Given the description of an element on the screen output the (x, y) to click on. 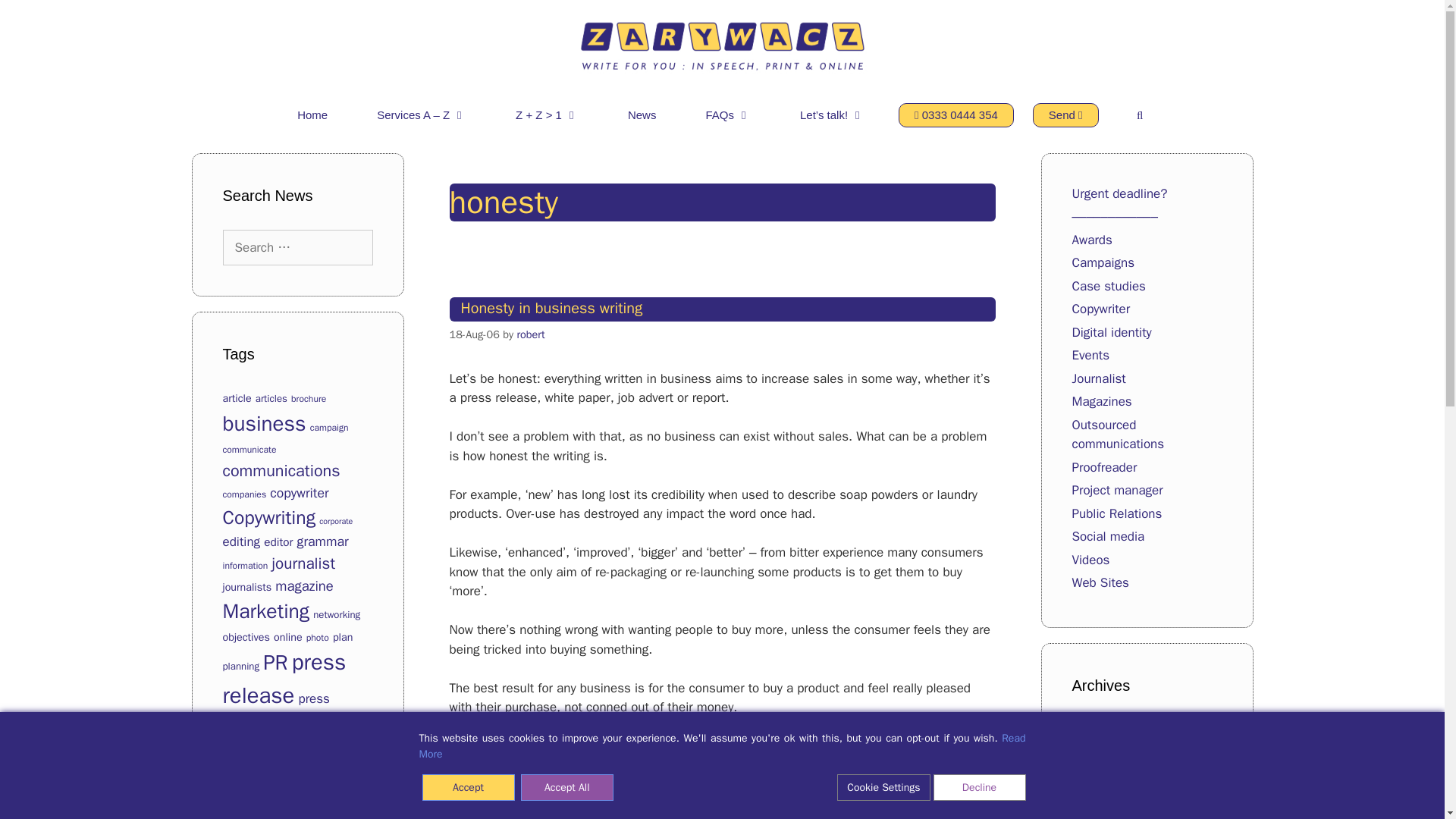
View all posts by robert (530, 334)
Home (312, 115)
Email us your requirements now (1065, 115)
Search for: (297, 248)
Click to call us now (955, 115)
